Given the description of an element on the screen output the (x, y) to click on. 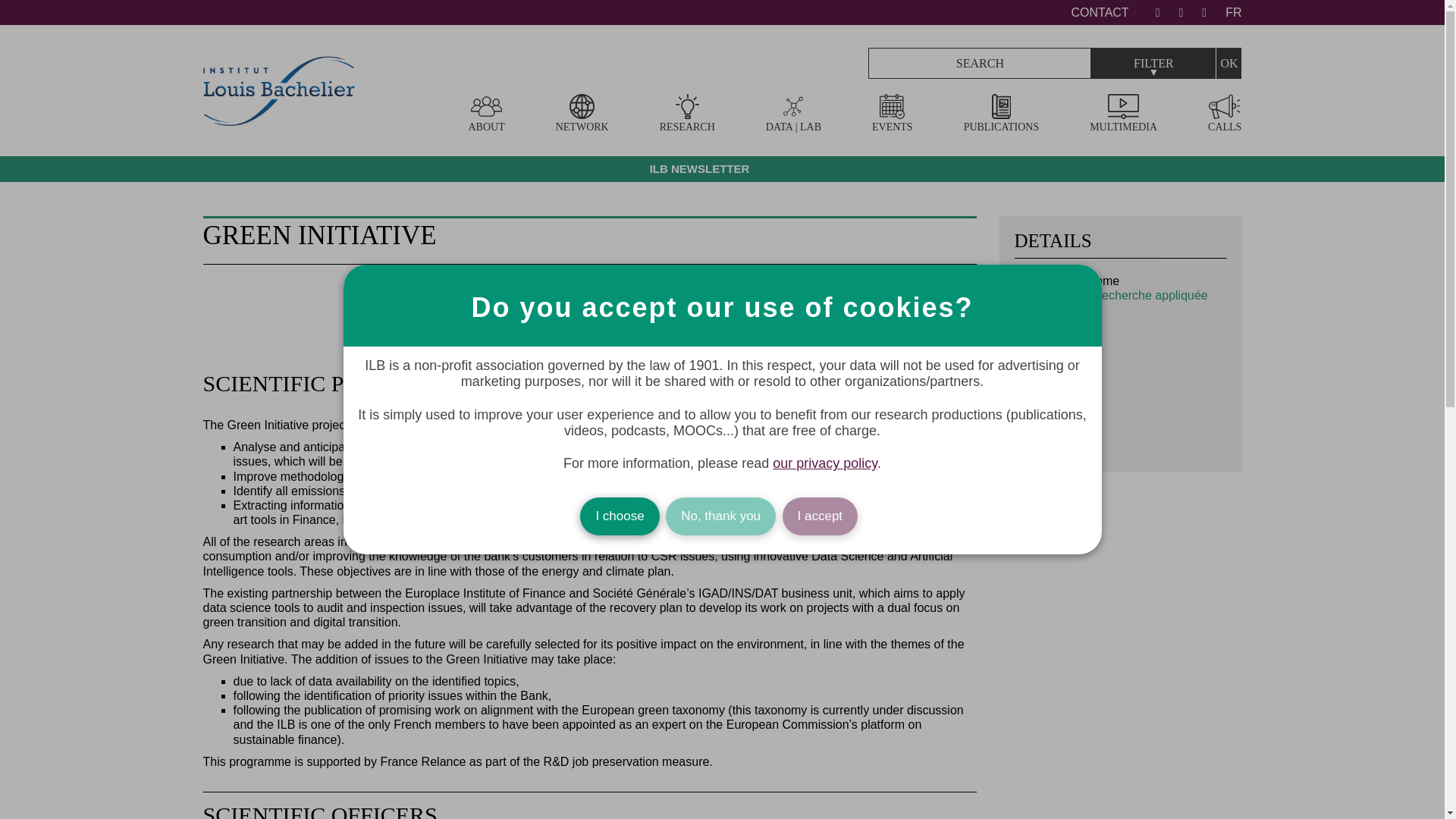
FILTER (1152, 62)
NETWORK (582, 113)
Institut Louis Bachelier (279, 118)
PUBLICATIONS (1001, 113)
Research (686, 113)
Multimedia (1123, 113)
Events (892, 113)
Network (582, 113)
CONTACT (1099, 11)
About (486, 113)
RESEARCH (686, 113)
FR (1233, 11)
Publications (1001, 113)
EVENTS (892, 113)
ABOUT (486, 113)
